Given the description of an element on the screen output the (x, y) to click on. 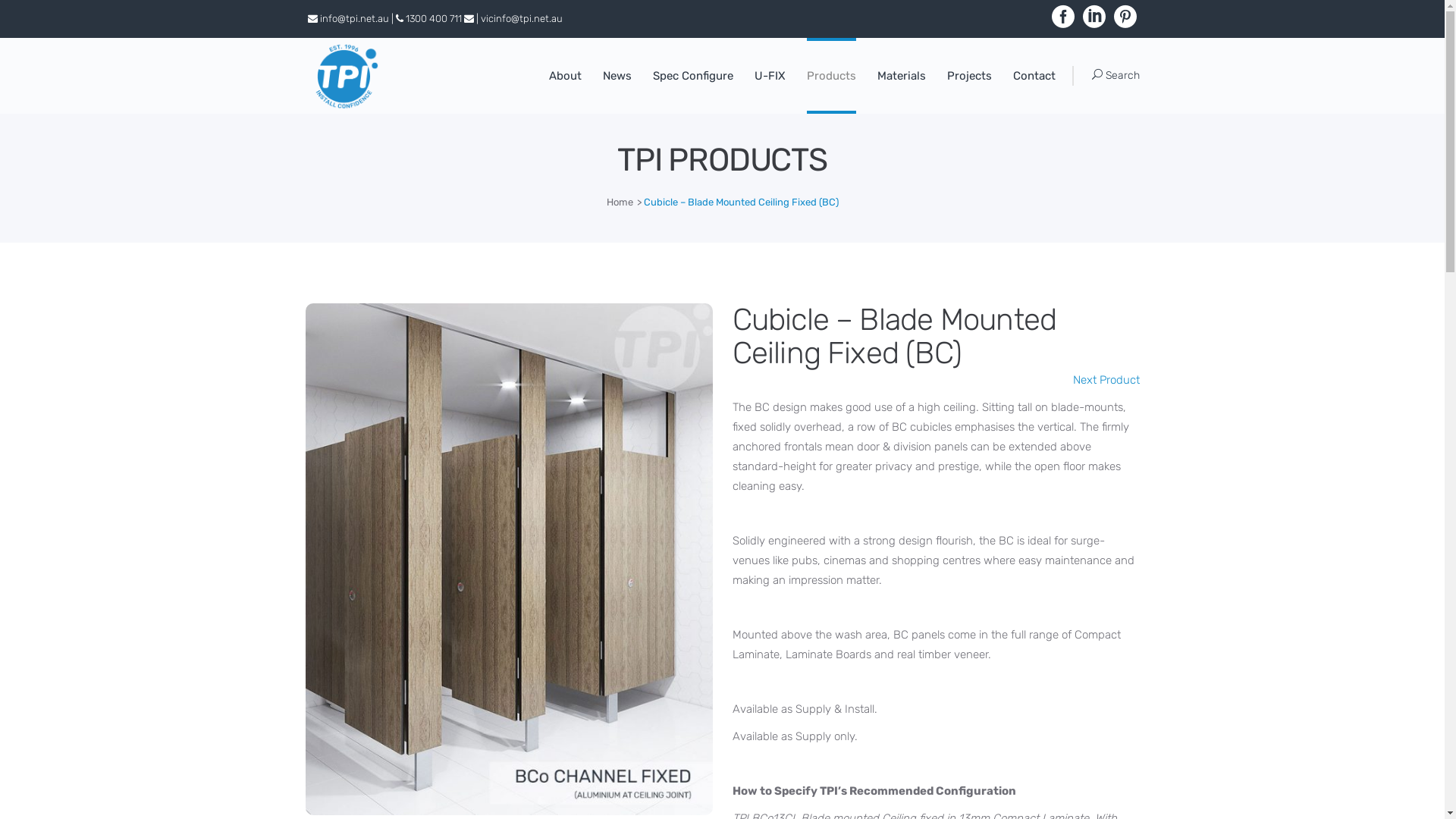
vicinfo@tpi.net.au Element type: text (521, 18)
Contact Element type: text (1034, 74)
Products Element type: text (831, 74)
Home Element type: text (619, 202)
News Element type: text (616, 74)
Next Product Element type: text (1105, 379)
TPI-Blade-Mounted-Ceiling-Fixed-BCo Element type: hover (508, 559)
U-FIX Element type: text (769, 74)
1300 400 711 Element type: text (432, 18)
Projects Element type: text (968, 74)
info@tpi.net.au Element type: text (354, 18)
Materials Element type: text (900, 74)
Spec Configure Element type: text (692, 74)
About Element type: text (565, 74)
Search Element type: text (1115, 74)
